Given the description of an element on the screen output the (x, y) to click on. 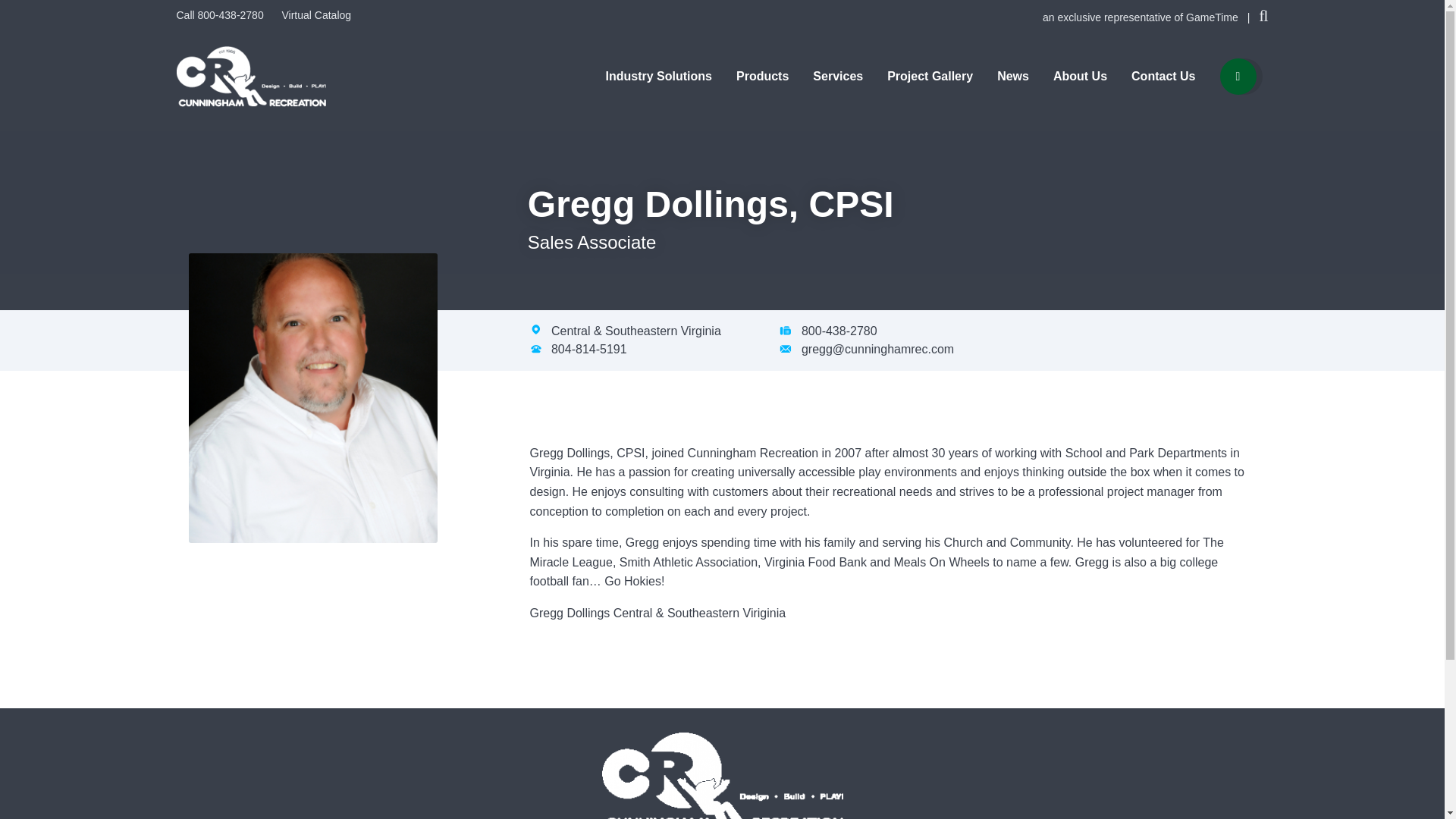
Products (762, 76)
Project Gallery (929, 76)
Industry Solutions (658, 76)
About Us (1079, 76)
Call us at 8004382780 (221, 15)
Call 800-438-2780 (221, 15)
Virtual Catalog (315, 15)
an exclusive representative of GameTime (1141, 17)
Services (837, 76)
Virtual Catalog (315, 15)
